Given the description of an element on the screen output the (x, y) to click on. 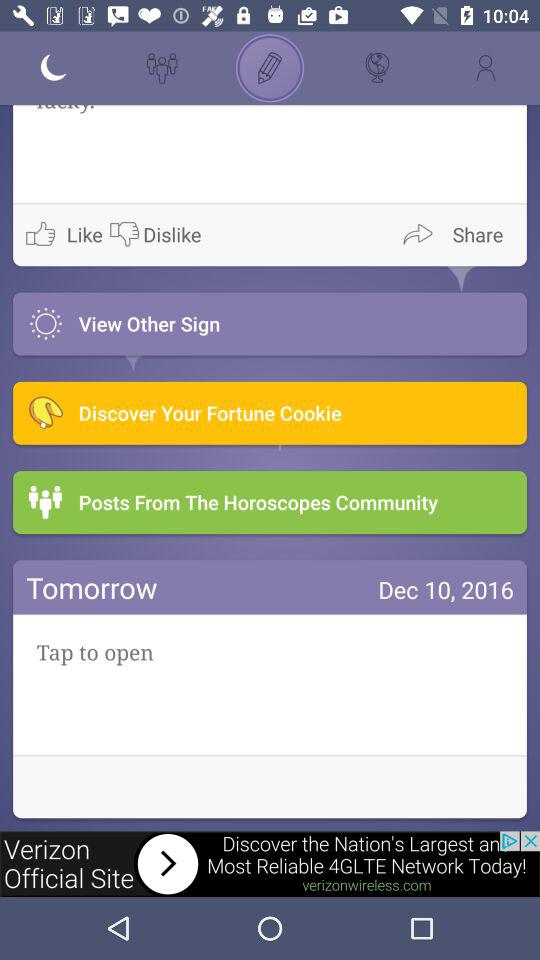
open advertisement (270, 864)
